Given the description of an element on the screen output the (x, y) to click on. 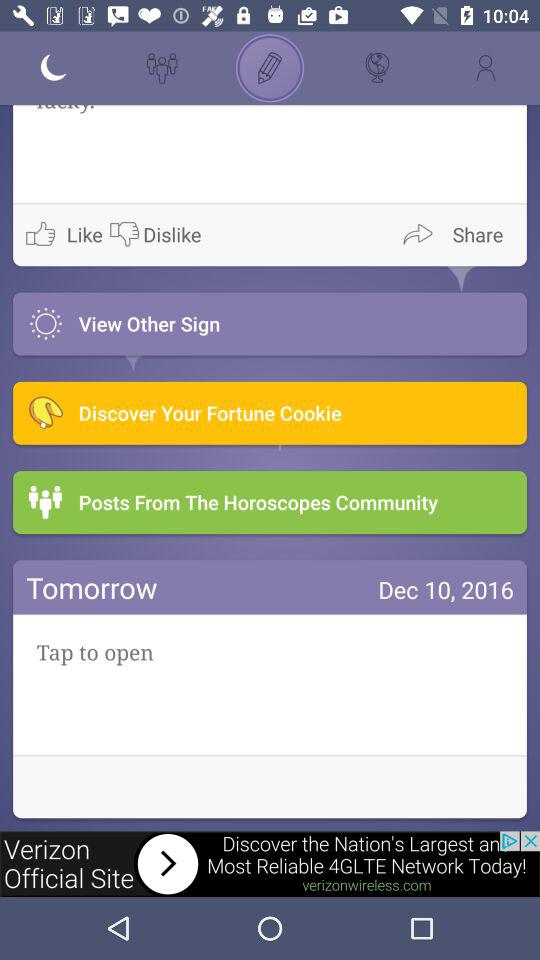
open advertisement (270, 864)
